Given the description of an element on the screen output the (x, y) to click on. 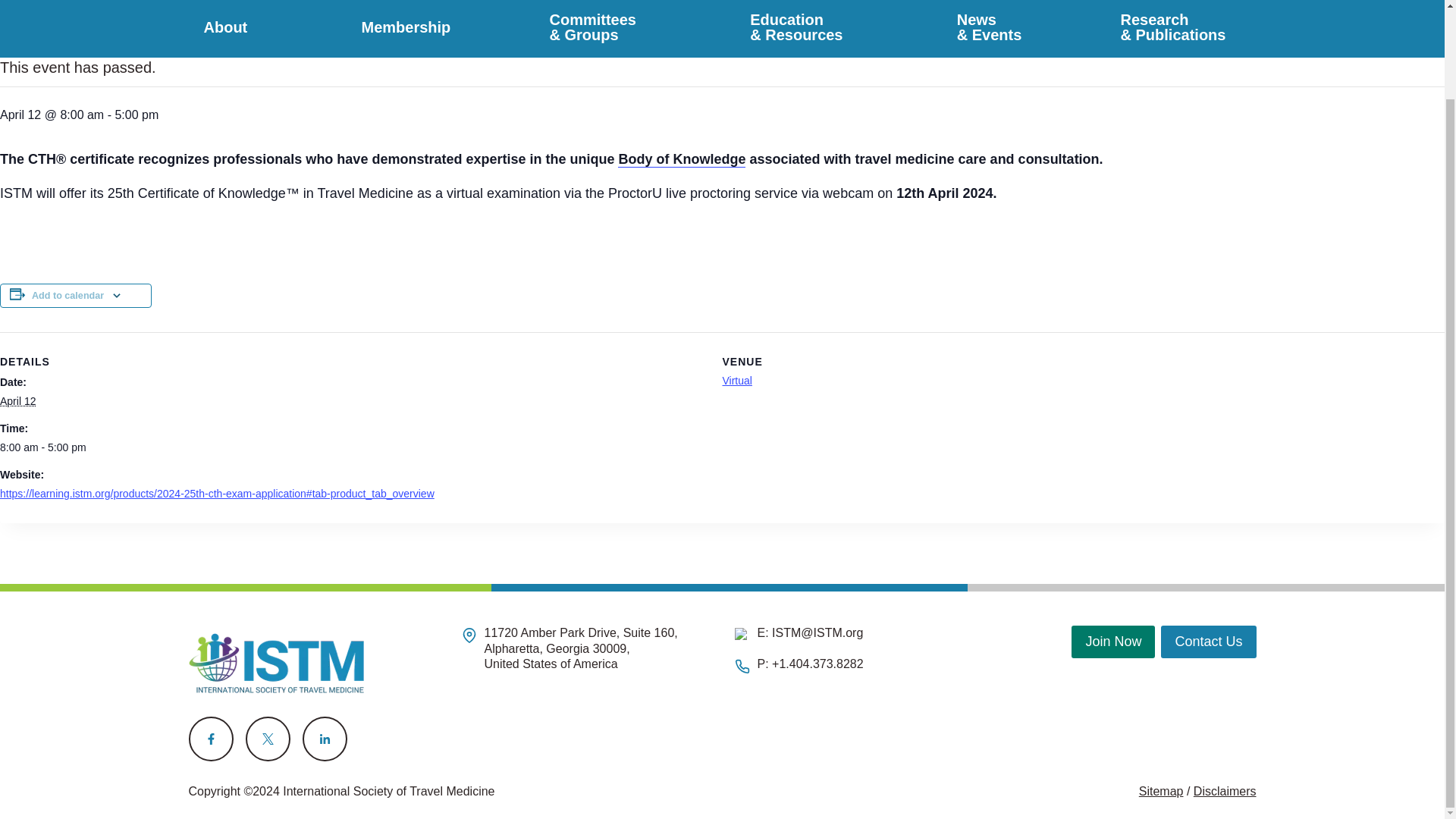
Membership (405, 28)
2024-04-12 (17, 400)
2024-04-12 (352, 447)
About (232, 28)
